Given the description of an element on the screen output the (x, y) to click on. 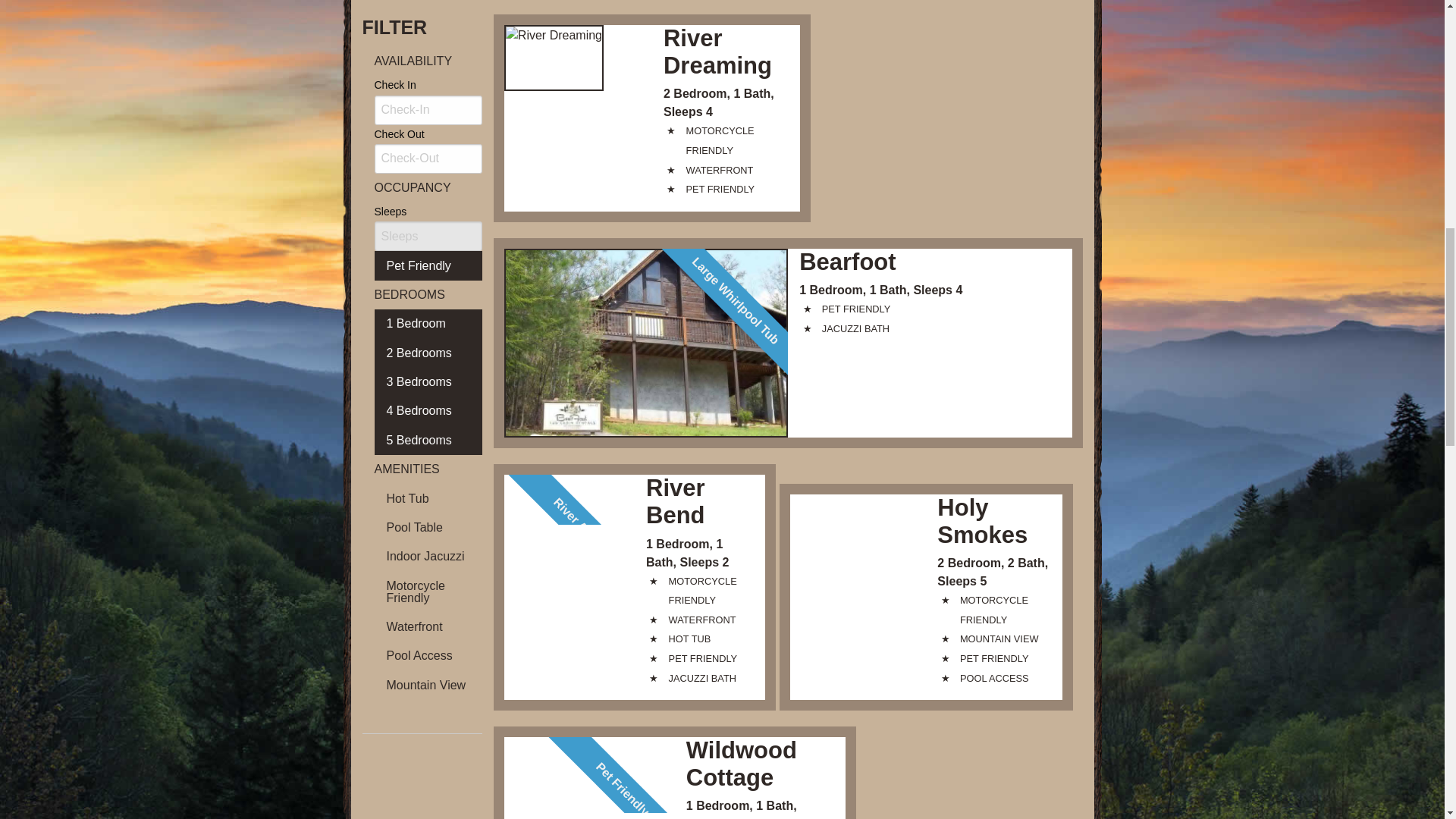
Indoor Jacuzzi (427, 556)
Waterfront (427, 626)
Pet Friendly (427, 265)
Pool Access (427, 655)
Hot Tub (427, 498)
AMENITIES (421, 469)
BEDROOMS (421, 294)
OCCUPANCY (421, 187)
AVAILABILITY (421, 61)
Pool Table (427, 527)
